Given the description of an element on the screen output the (x, y) to click on. 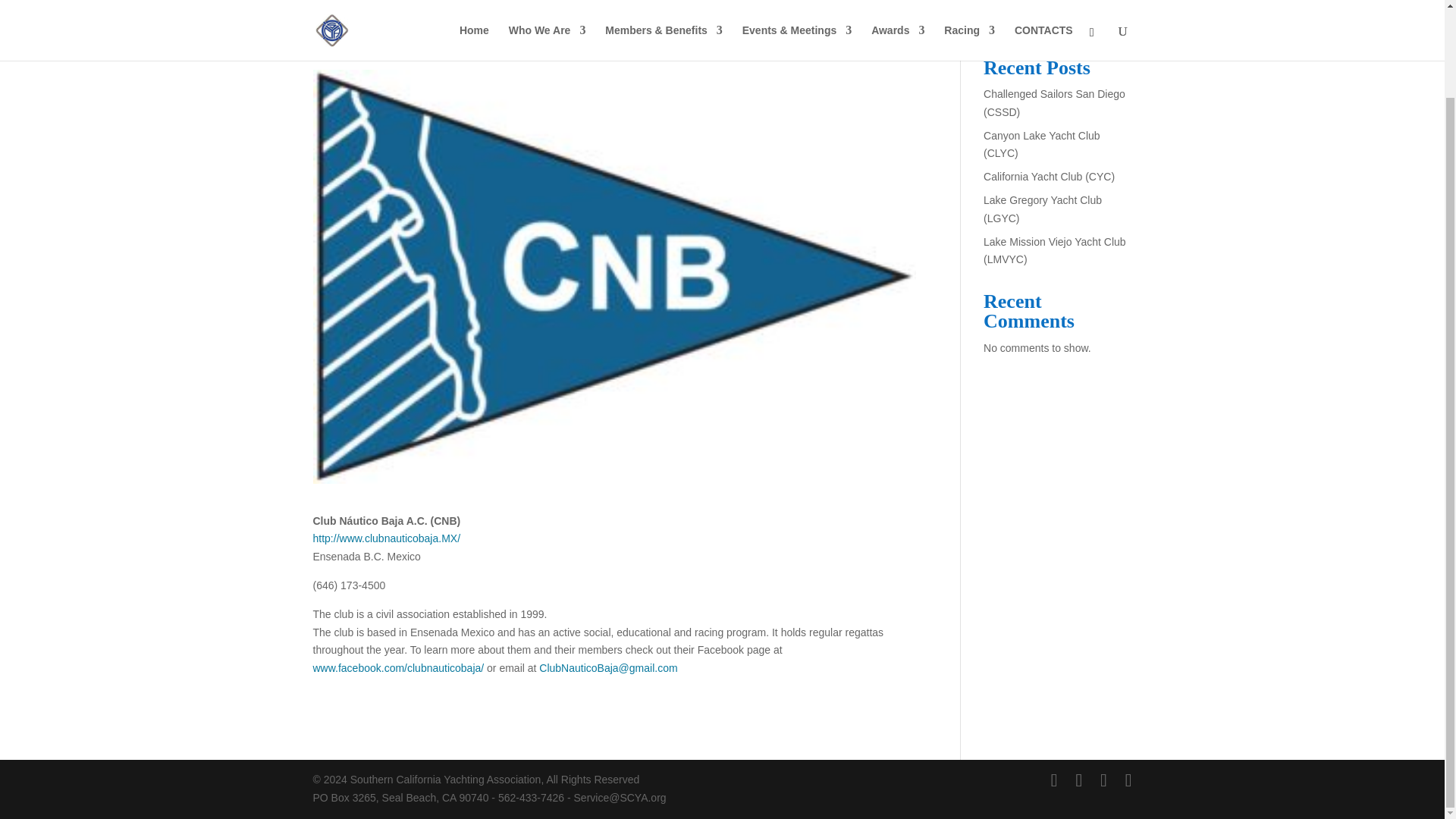
Posts by Marie Rogers (358, 43)
